Given the description of an element on the screen output the (x, y) to click on. 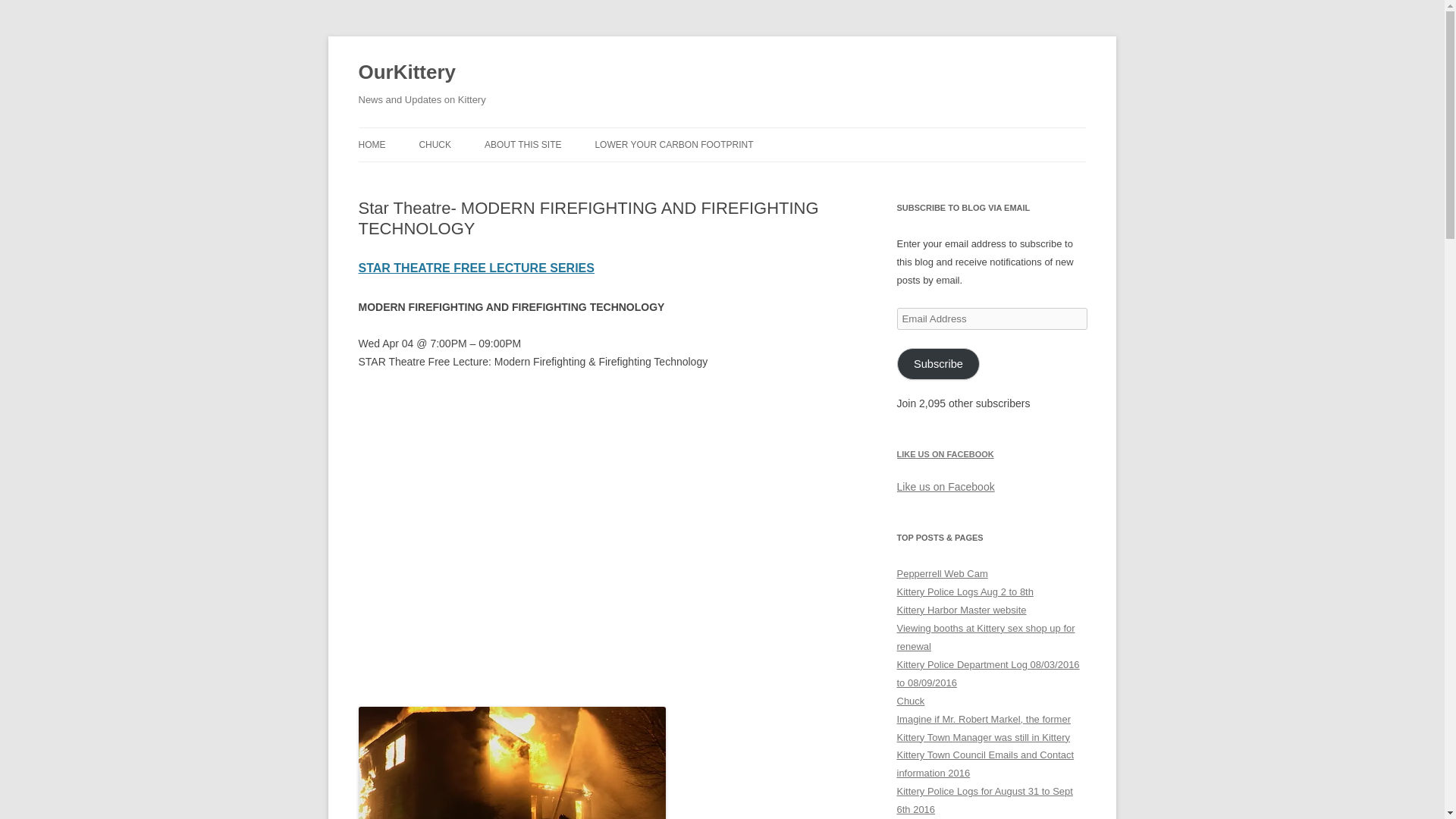
Like us on Facebook (945, 486)
Kittery Police Logs Aug 2 to 8th (964, 591)
Kittery Town Council Emails and Contact information 2016 (985, 763)
CHUCK (435, 144)
Kittery Harbor Master website (961, 609)
STAR THEATRE FREE LECTURE SERIES (476, 267)
Chuck (910, 700)
LIKE US ON FACEBOOK (944, 453)
Subscribe (937, 364)
Kittery Police Logs for August 31 to Sept 6th 2016 (983, 799)
OurKittery (406, 72)
LOWER YOUR CARBON FOOTPRINT (673, 144)
Pepperrell Web Cam (941, 573)
